Given the description of an element on the screen output the (x, y) to click on. 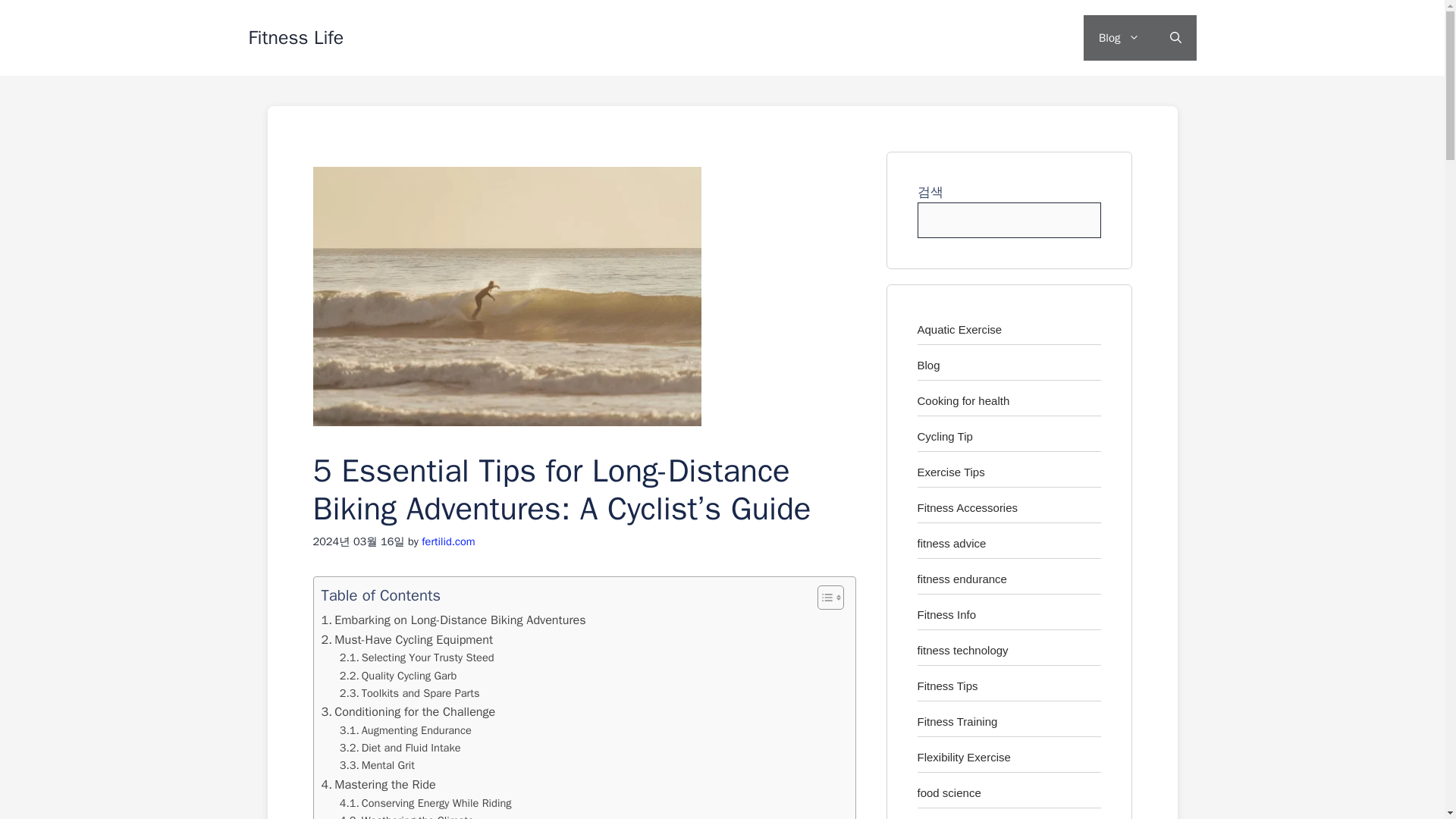
Conditioning for the Challenge (408, 711)
Selecting Your Trusty Steed (417, 657)
Augmenting Endurance (405, 730)
Conserving Energy While Riding (425, 803)
Diet and Fluid Intake (400, 747)
fertilid.com (448, 540)
Embarking on Long-Distance Biking Adventures (453, 619)
Mental Grit (376, 764)
Must-Have Cycling Equipment (407, 639)
Toolkits and Spare Parts (409, 692)
